Given the description of an element on the screen output the (x, y) to click on. 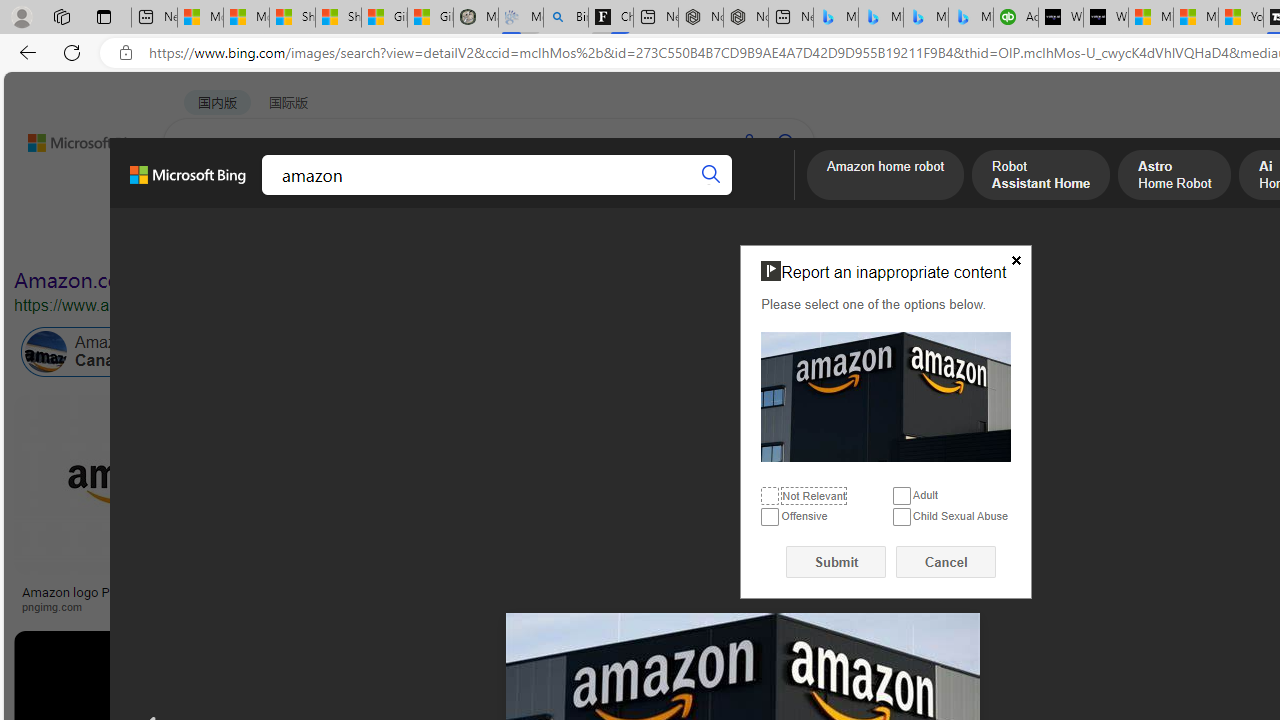
Amazon Canada Online (114, 351)
Amazon Logo Png Hd Wallpaper | Images and Photos finder (982, 598)
usatoday.com (710, 606)
People (521, 237)
Accounting Software for Accountants, CPAs and Bookkeepers (1016, 17)
Astro Home Robot (1174, 177)
Two Reasons Why Retailers Need to Leverage Amazon (396, 598)
Amazon India (850, 351)
Amazon Animals (706, 351)
ACADEMIC (548, 195)
Alexa Smart Home Devices (1183, 584)
VIDEOS (458, 195)
